Given the description of an element on the screen output the (x, y) to click on. 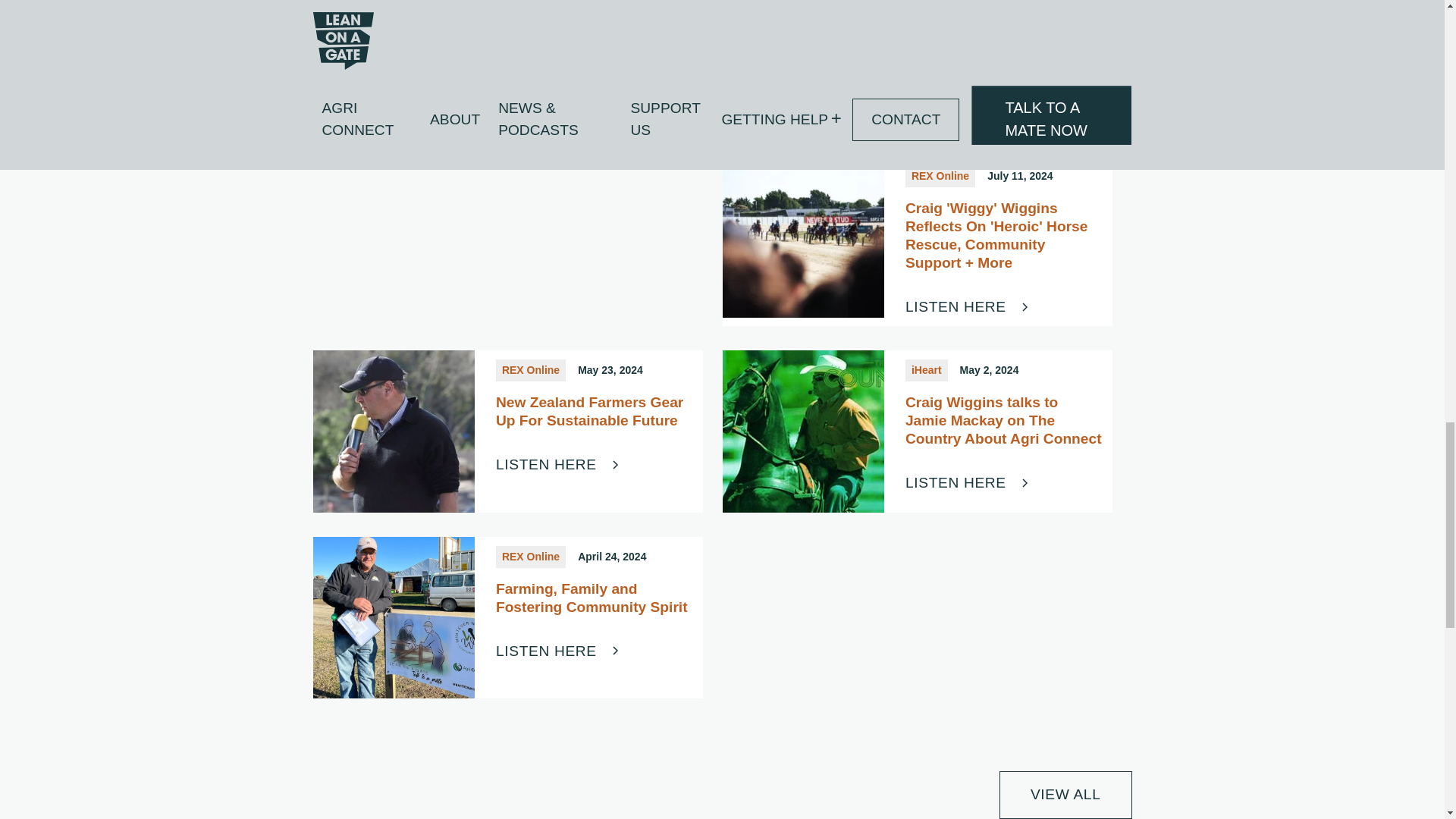
LISTEN HERE (967, 306)
LISTEN HERE (558, 120)
REX Online (940, 0)
LISTEN HERE (967, 102)
REX Online (940, 176)
REX Online (531, 370)
REX Online (531, 0)
New Zealand Farmers Gear Up For Sustainable Future (595, 411)
